Given the description of an element on the screen output the (x, y) to click on. 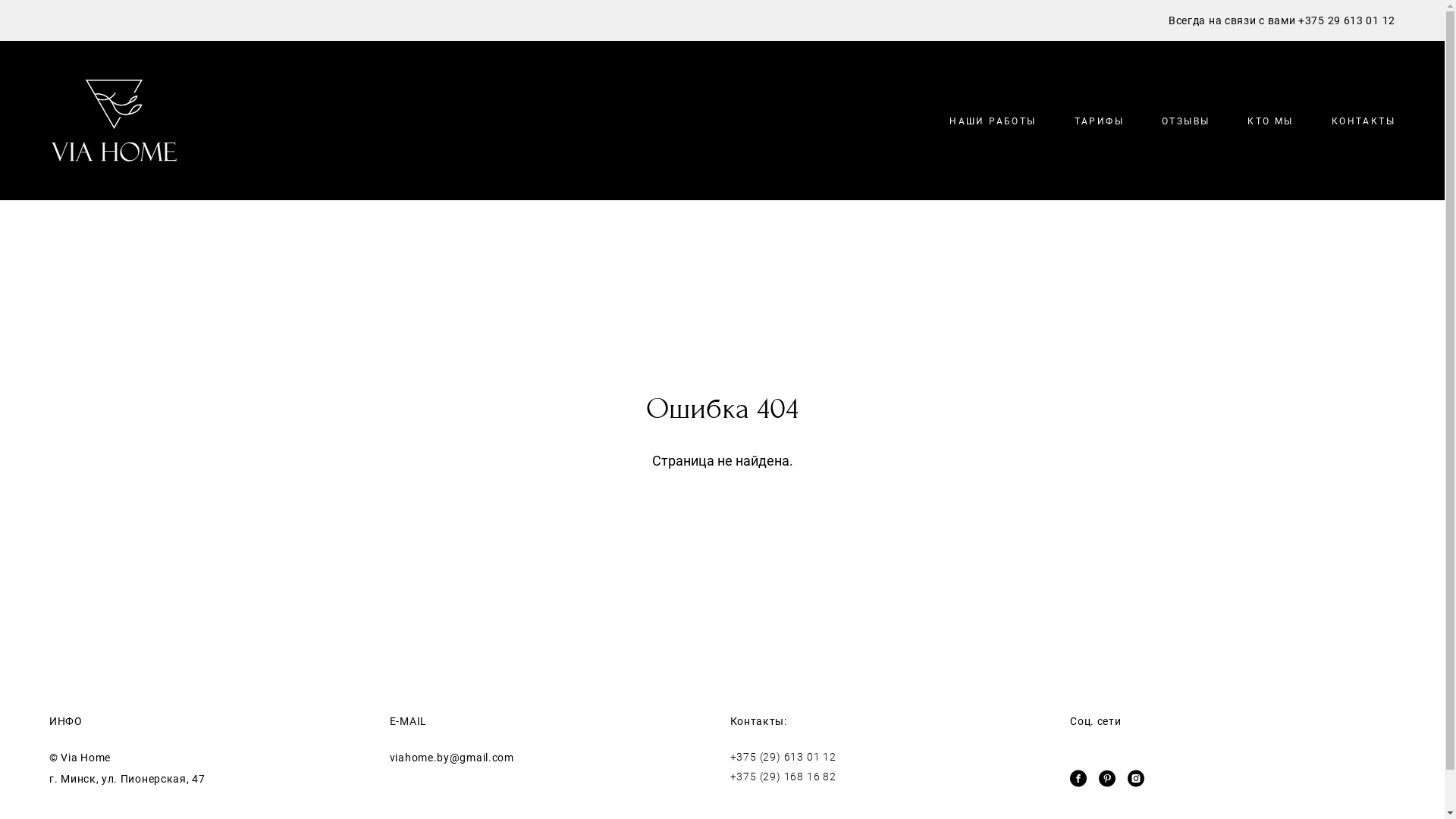
ViaHome Element type: hover (113, 120)
+375 29 613 01  Element type: text (1340, 19)
